Given the description of an element on the screen output the (x, y) to click on. 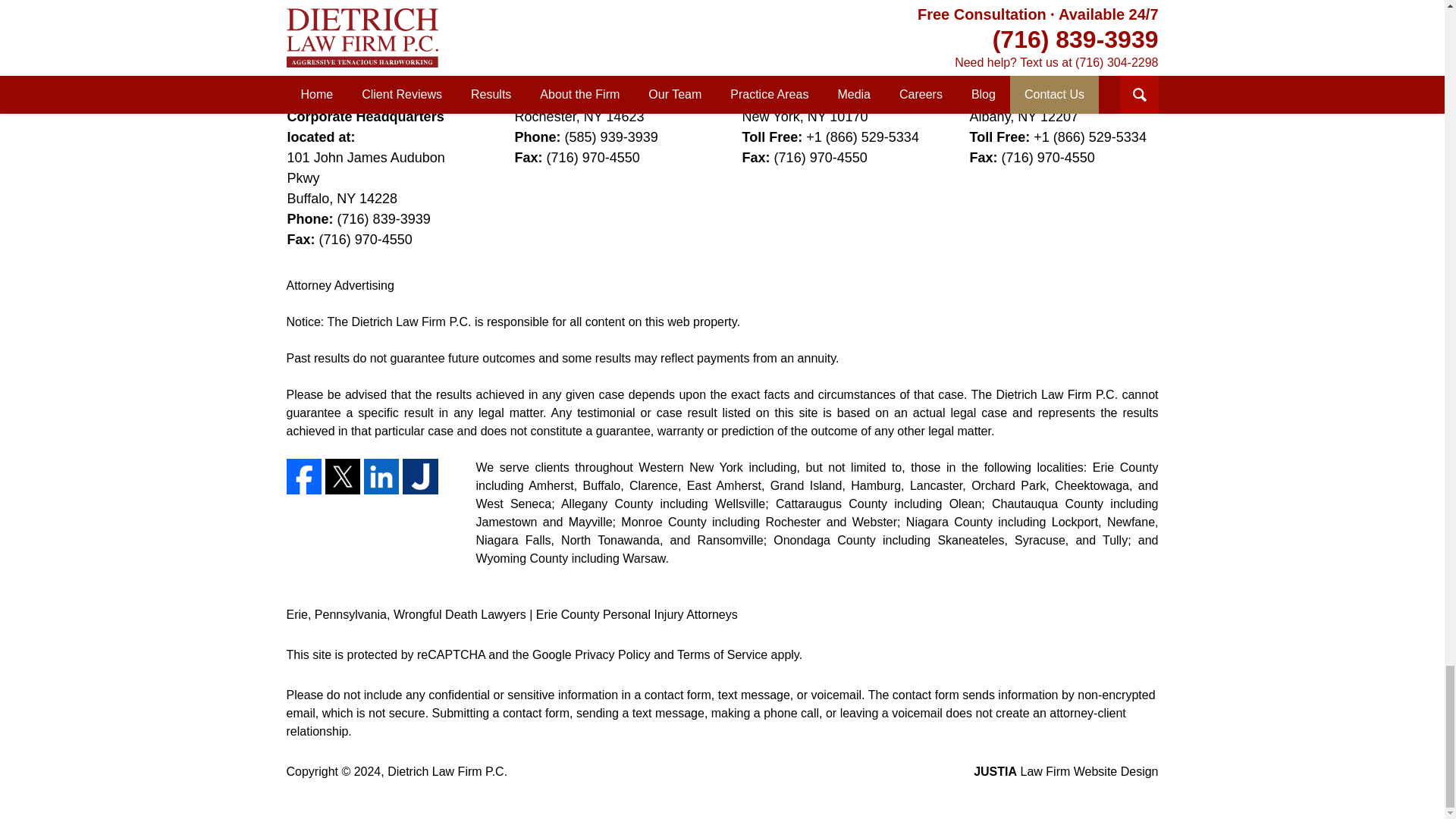
Facebook (303, 475)
Justia (420, 475)
LinkedIn (381, 475)
Twitter (341, 475)
